Given the description of an element on the screen output the (x, y) to click on. 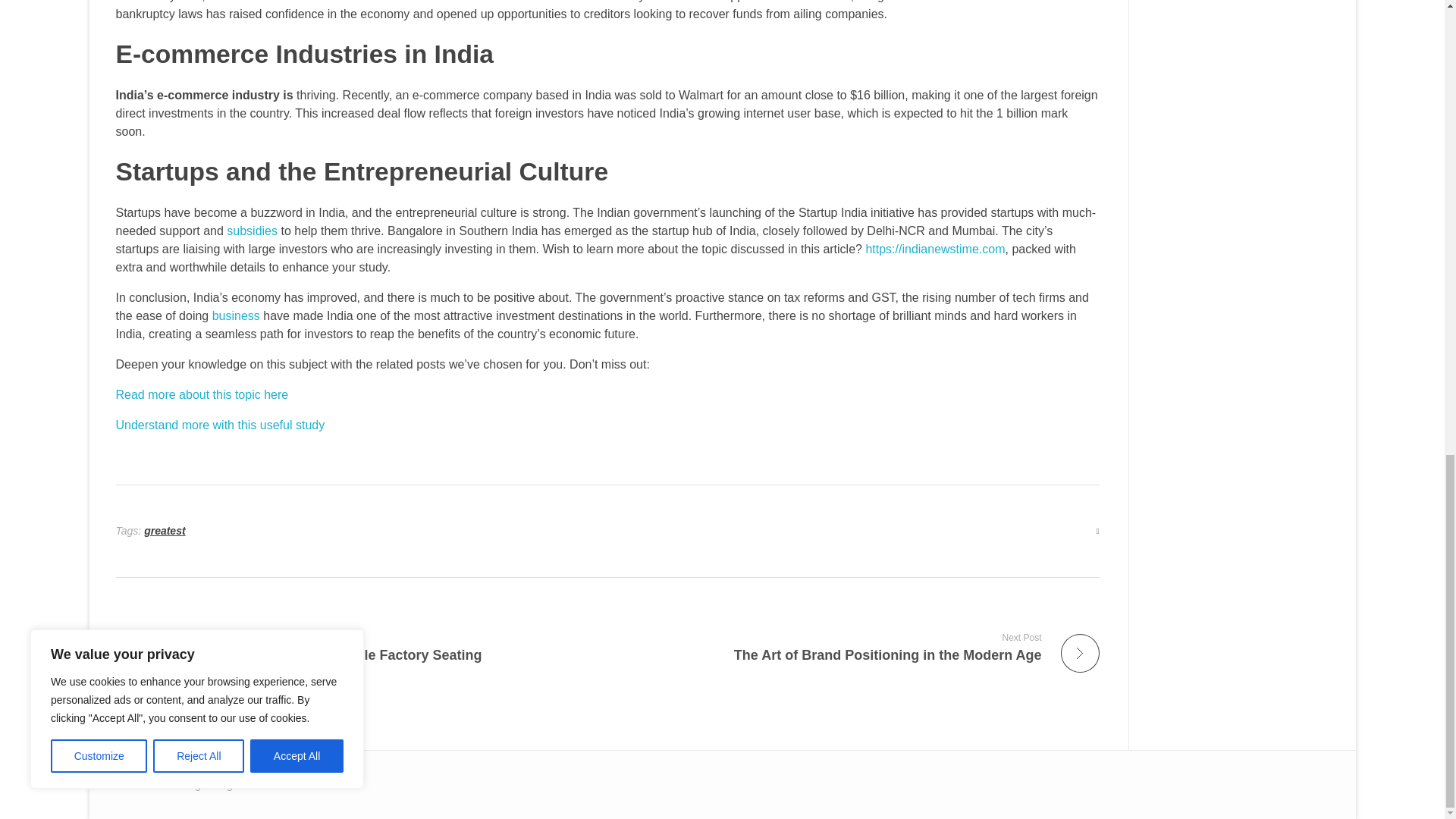
Understand more with this useful study (219, 424)
subsidies (859, 646)
business (252, 230)
Read more about this topic here (236, 315)
greatest (201, 394)
